Given the description of an element on the screen output the (x, y) to click on. 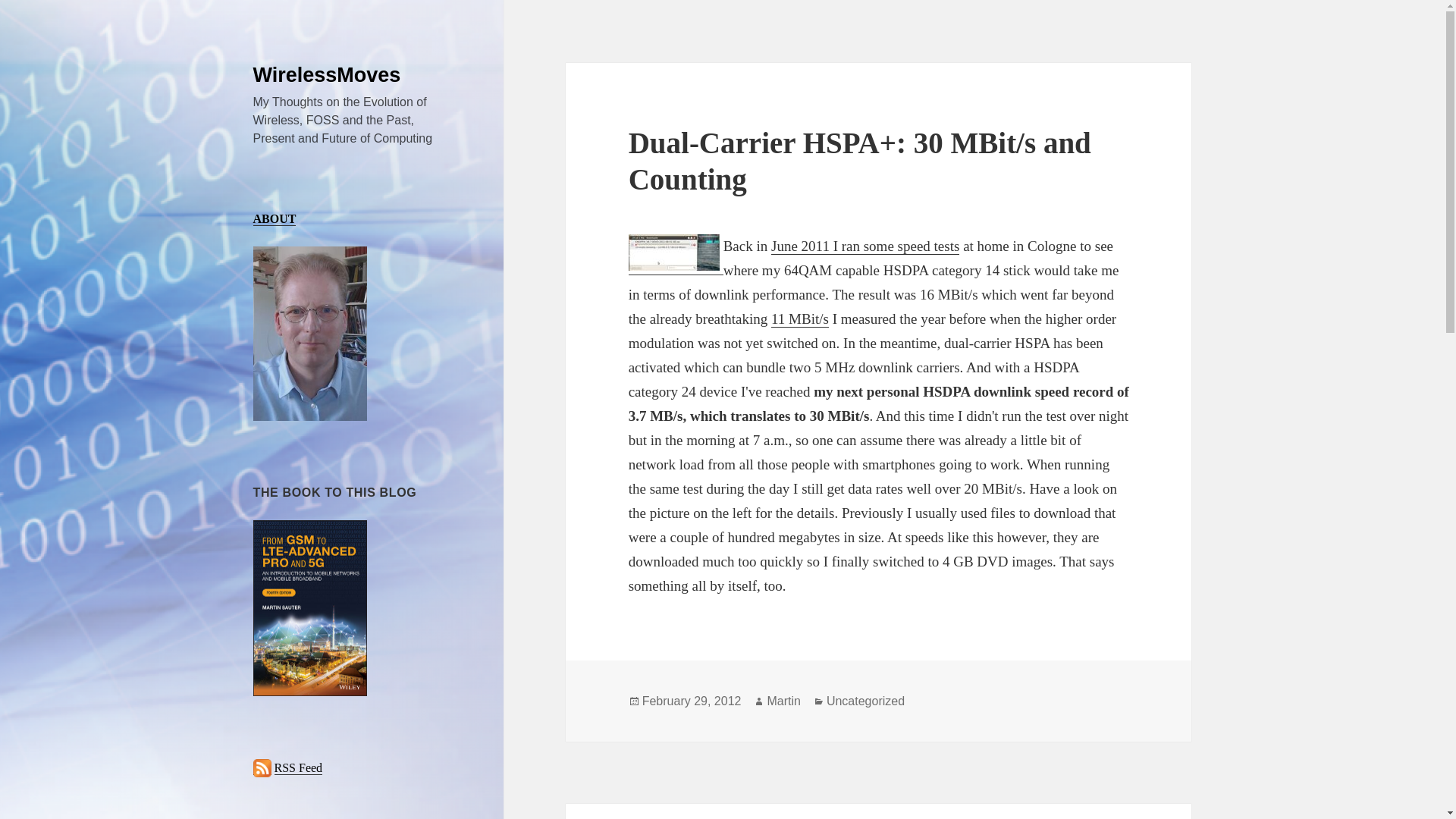
June 2011 I ran some speed tests (865, 246)
WirelessMoves (327, 74)
30mbit (673, 252)
February 29, 2012 (691, 701)
Uncategorized (865, 701)
ABOUT (275, 219)
RSS Feed (299, 767)
Martin (783, 701)
